Given the description of an element on the screen output the (x, y) to click on. 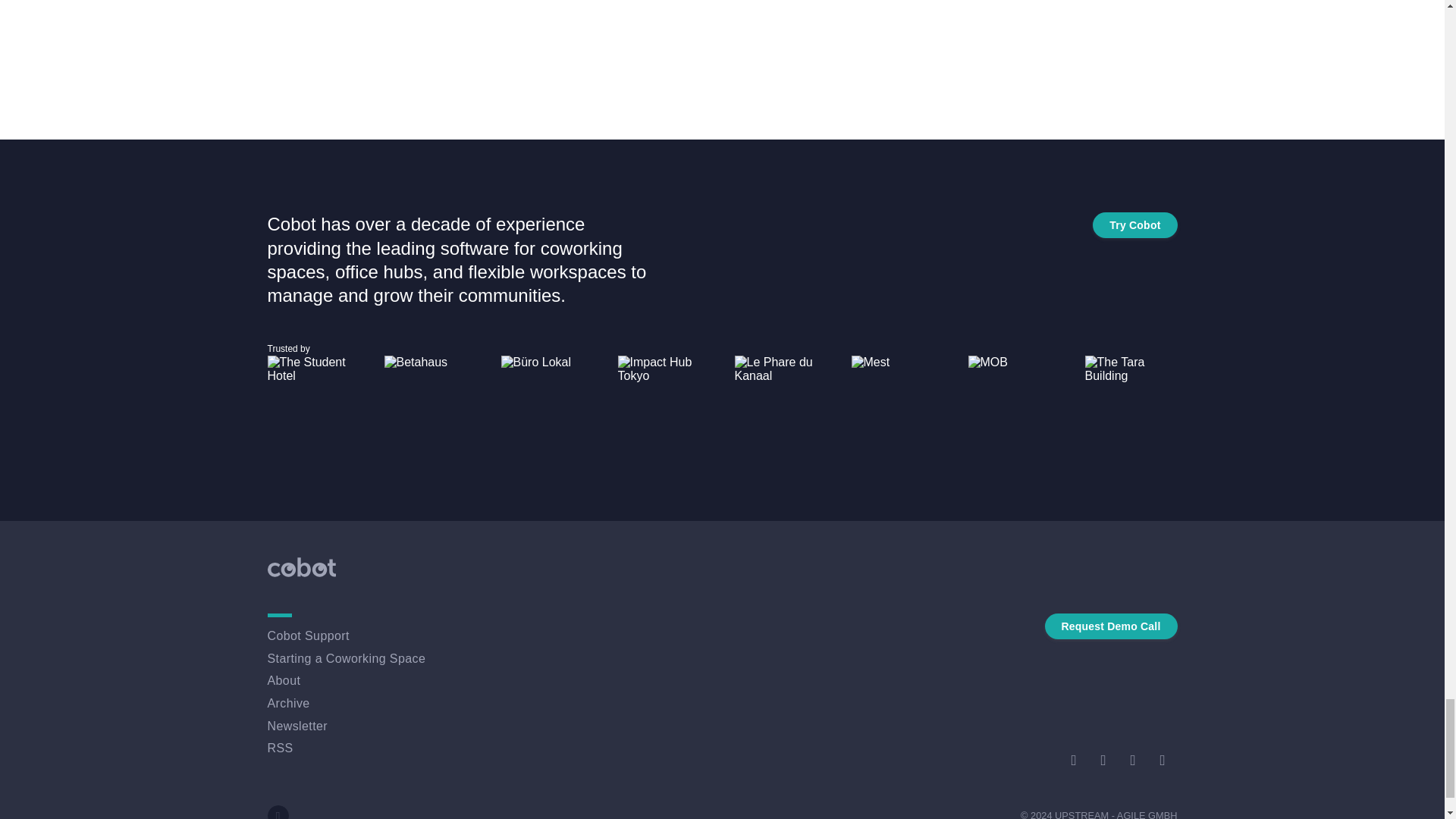
Product Updates (721, 11)
Cobot Product Update June 2024 (721, 32)
Cobot Homepage (721, 42)
